Given the description of an element on the screen output the (x, y) to click on. 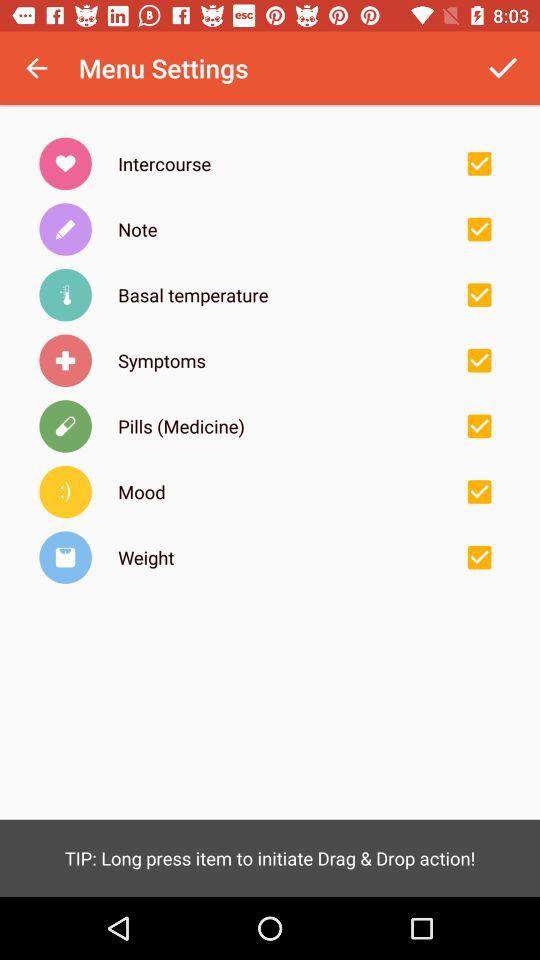
toggle symptoms (479, 360)
